Given the description of an element on the screen output the (x, y) to click on. 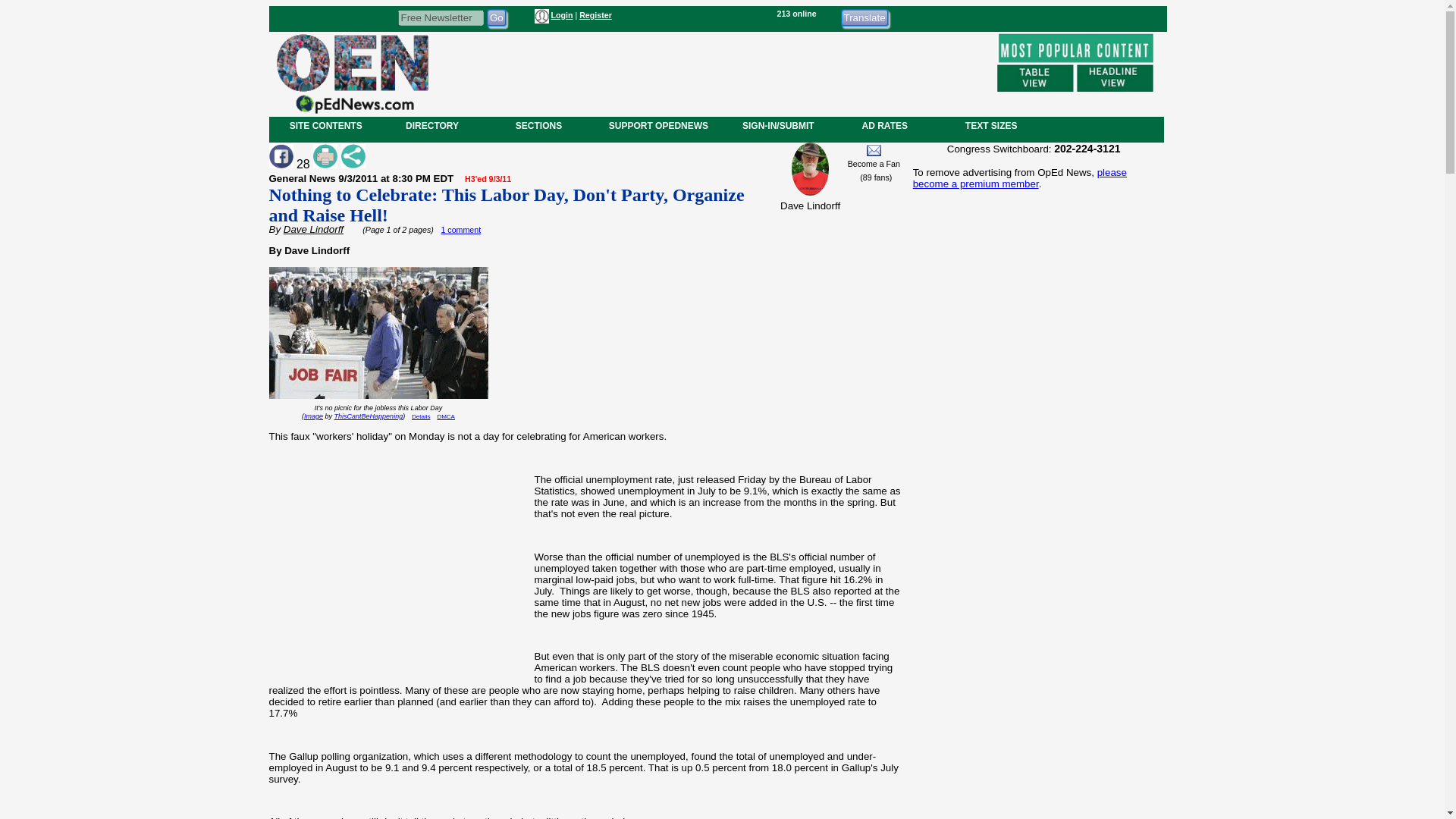
1 comment (460, 229)
ThisCantBeHappening (368, 416)
SUPPORT OPEDNEWS (658, 125)
SECTIONS (537, 125)
Share on Facebook (279, 156)
AD RATES (884, 125)
Register (595, 14)
It's no picnic for the jobless this Labor Day (371, 412)
TEXT SIZES (990, 125)
Printer Friendly Page (325, 156)
